Given the description of an element on the screen output the (x, y) to click on. 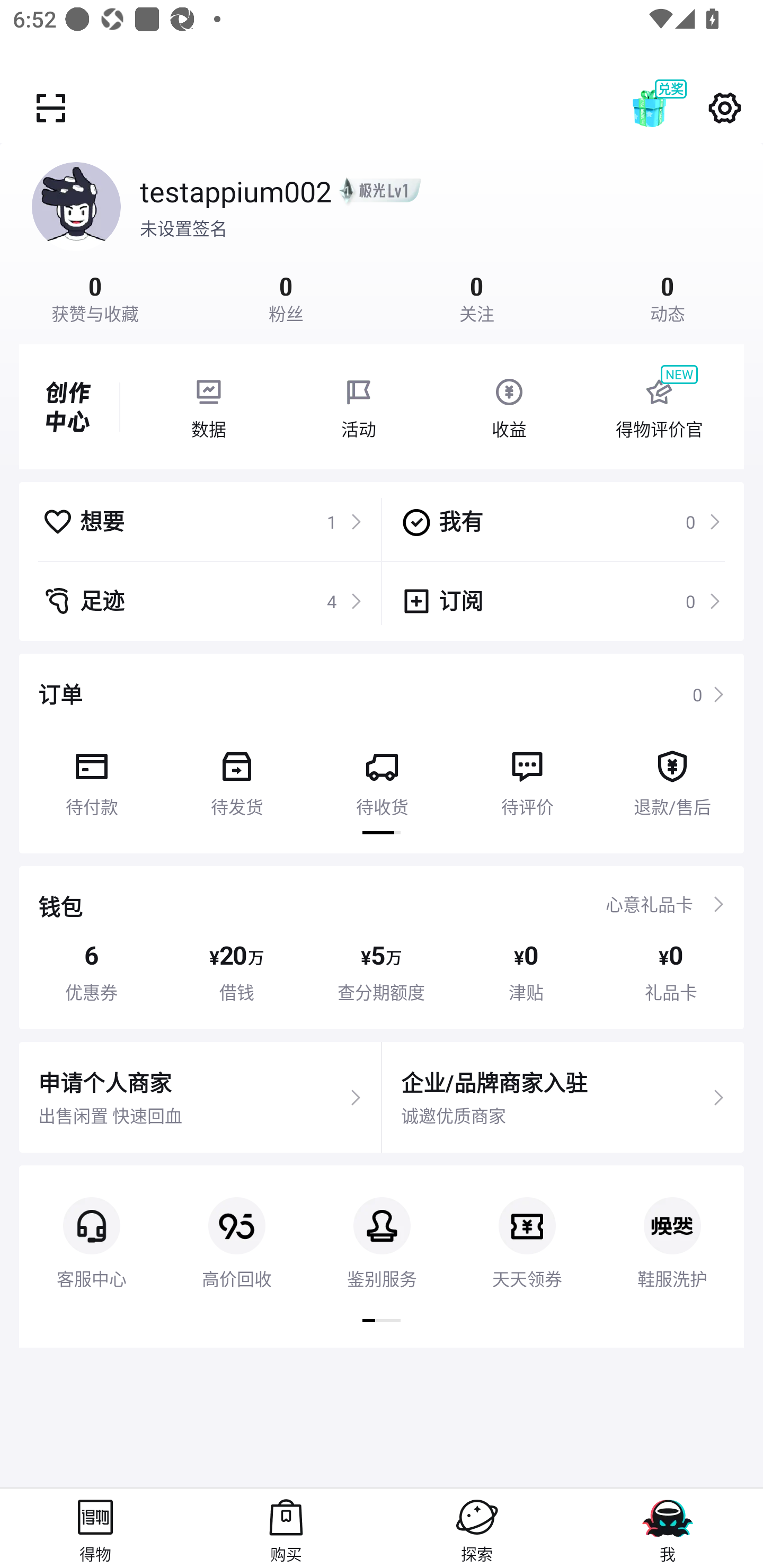
兑奖 (667, 107)
testappium002 未设置签名 0 获赞与收藏 0 粉丝 0 关注 0 动态 (381, 233)
0 获赞与收藏 (95, 296)
0 粉丝 (285, 296)
0 关注 (476, 296)
0 动态 (667, 296)
数据 (208, 406)
活动 (358, 406)
收益 (508, 406)
NEW 得物评价官 (658, 406)
想要 1 (201, 521)
我有 0 (560, 521)
足迹 4 (201, 601)
订阅 0 (560, 601)
订单 0 待付款 待发货 待收货 待评价 退款/售后 (381, 752)
待付款 (91, 776)
待发货 (236, 776)
待收货 (381, 776)
待评价 (526, 776)
退款/售后 (671, 776)
心意礼品卡 (648, 903)
6 优惠券 (91, 971)
¥ 20 万 借钱 (236, 971)
¥ 5 万 查分期额度 (381, 971)
¥ 0 津贴 (525, 971)
¥ 0 礼品卡 (670, 971)
申请个人商家 出售闲置 快速回血 (199, 1097)
企业/品牌商家入驻 诚邀优质商家 (562, 1097)
客服中心 (91, 1227)
高价回收 (236, 1227)
鉴别服务 (381, 1227)
天天领券 (526, 1227)
鞋服洗护 (671, 1227)
得物 (95, 1528)
购买 (285, 1528)
探索 (476, 1528)
我 (667, 1528)
